Given the description of an element on the screen output the (x, y) to click on. 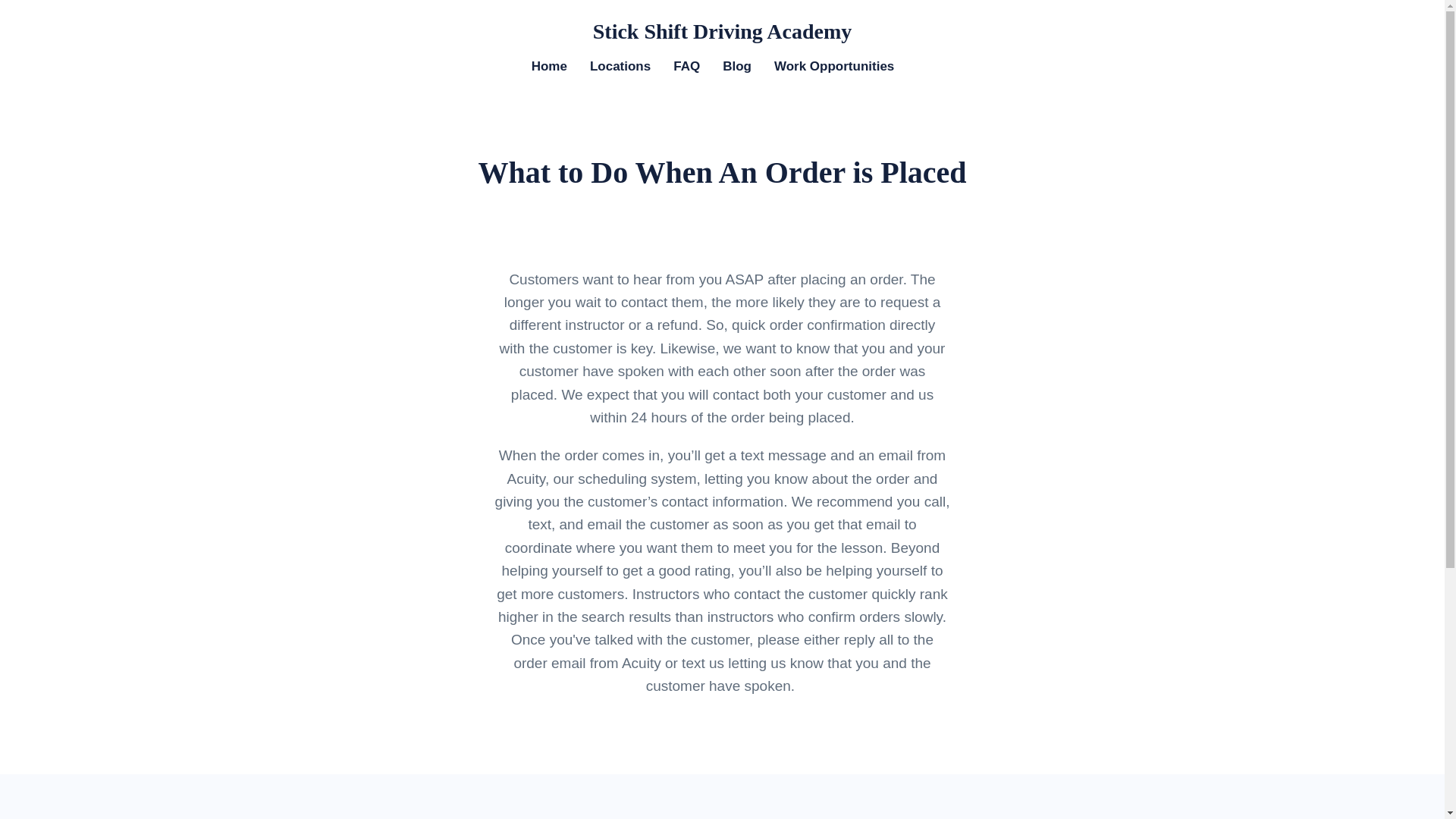
Stick Shift Driving Academy (721, 31)
Work Opportunities (833, 66)
FAQ (686, 66)
Home (549, 66)
Blog (736, 66)
Locations (619, 66)
